Given the description of an element on the screen output the (x, y) to click on. 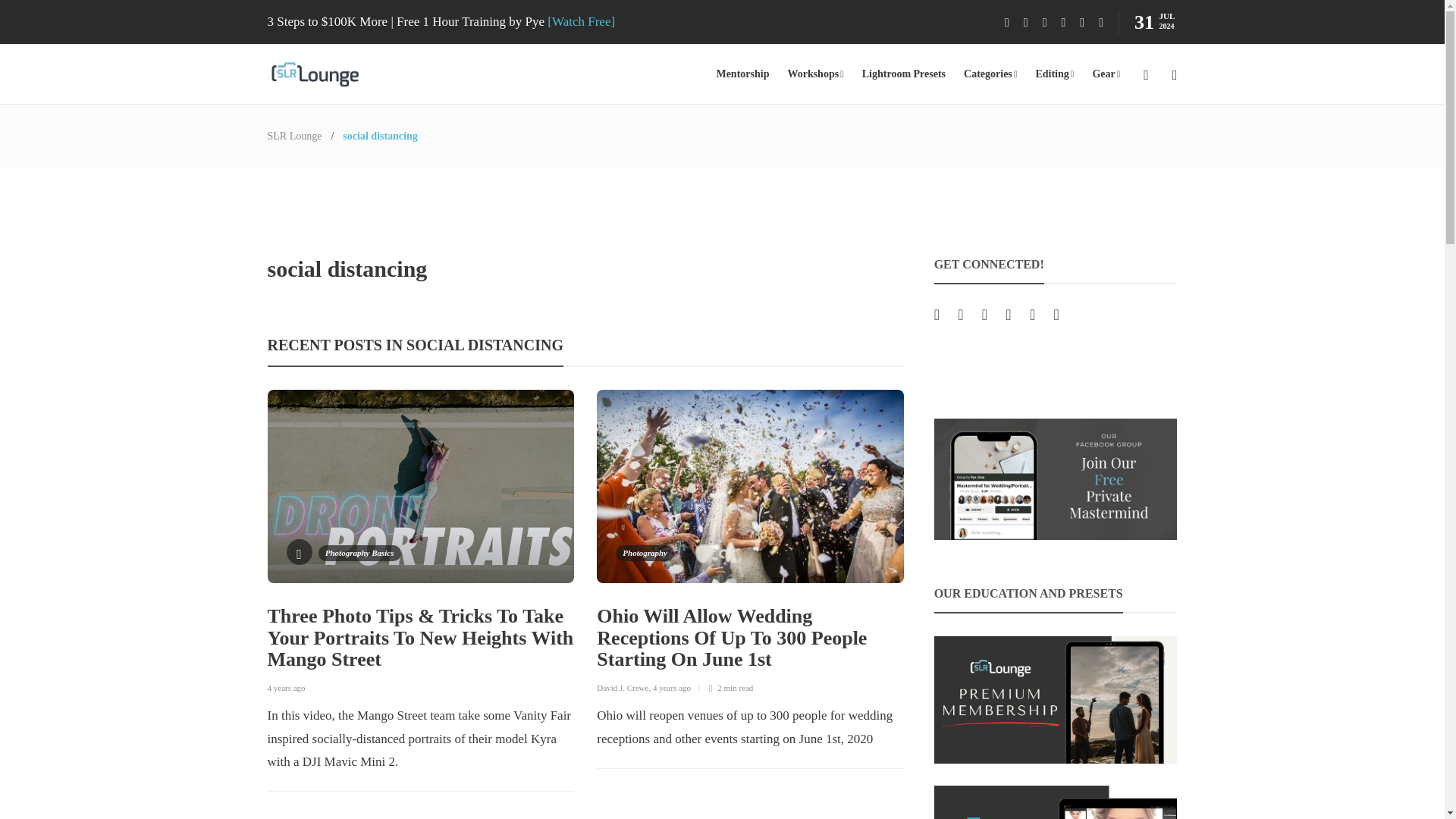
SLR Lounge (293, 135)
